Given the description of an element on the screen output the (x, y) to click on. 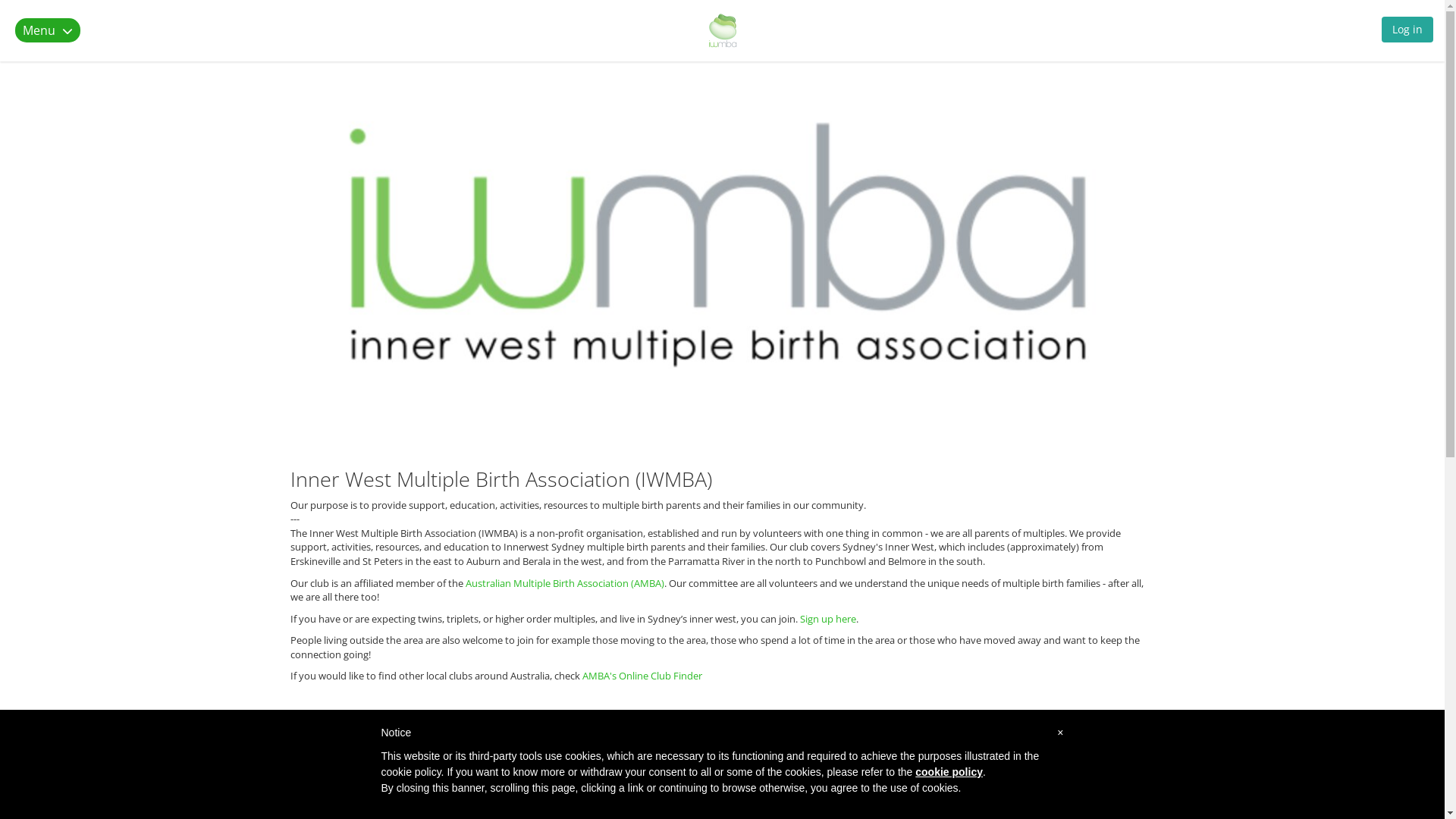
Menu Element type: text (56, 30)
Log in Element type: text (1407, 32)
cookie policy Element type: text (948, 771)
Australian Multiple Birth Association (AMBA) Element type: text (564, 582)
Sign up here Element type: text (827, 618)
AMBA's Online Club Finder Element type: text (642, 675)
